Given the description of an element on the screen output the (x, y) to click on. 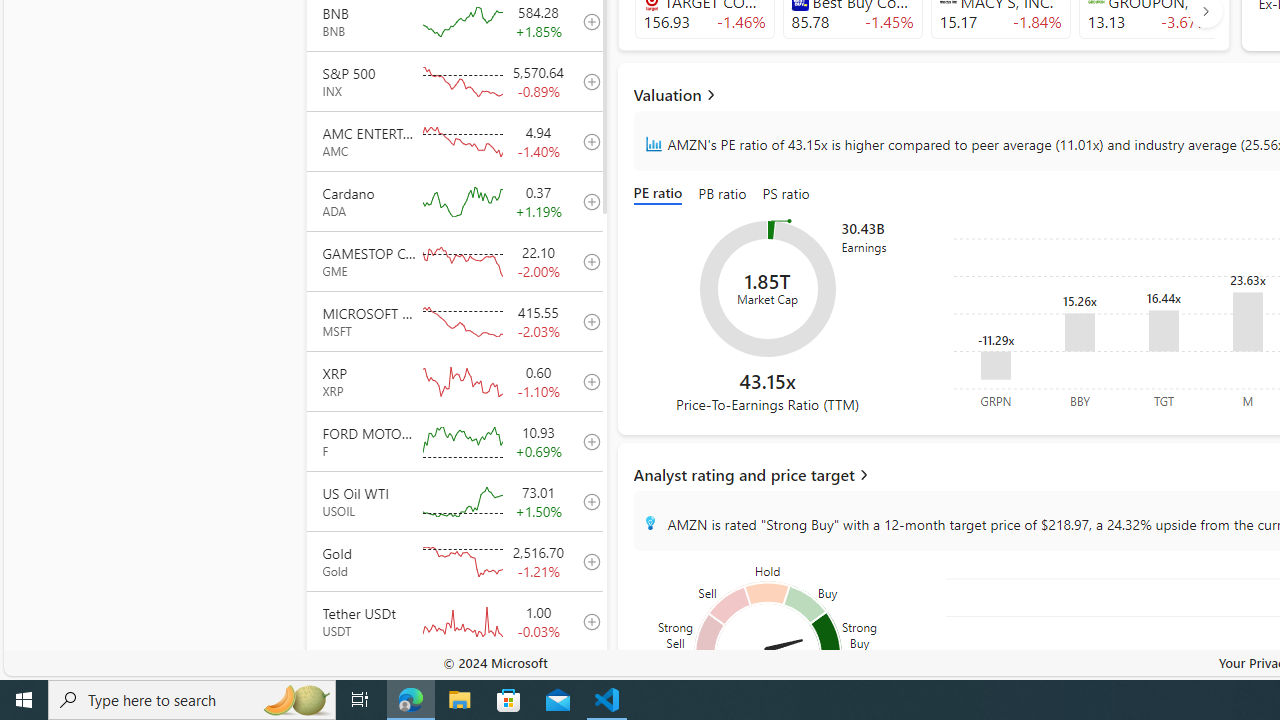
add to your watchlist (586, 681)
